Given the description of an element on the screen output the (x, y) to click on. 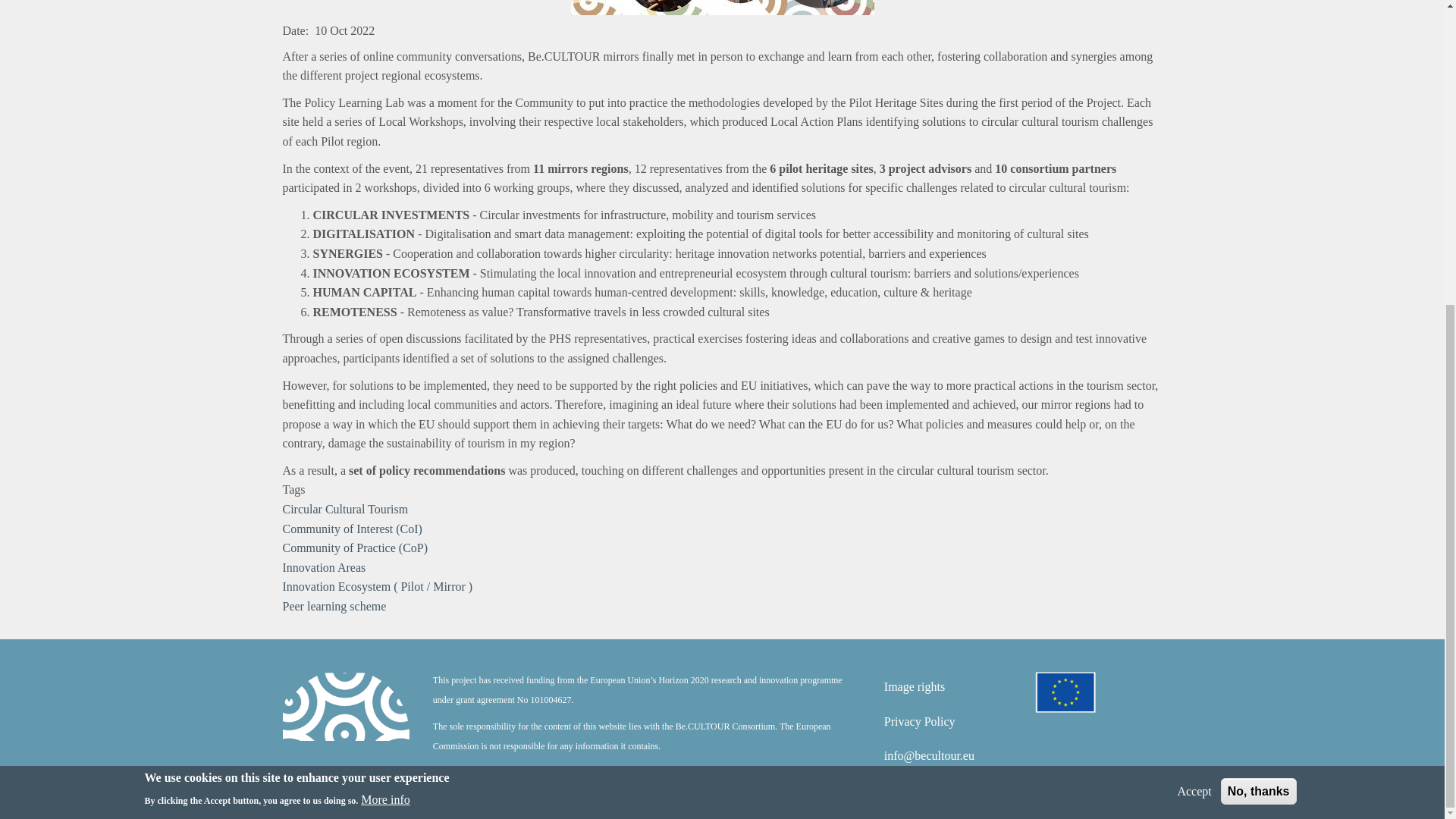
Image rights (913, 686)
Circular Cultural Tourism (344, 508)
Innovation Areas (323, 567)
More info (385, 322)
Privacy Policy (919, 721)
Peer learning scheme (333, 605)
